Given the description of an element on the screen output the (x, y) to click on. 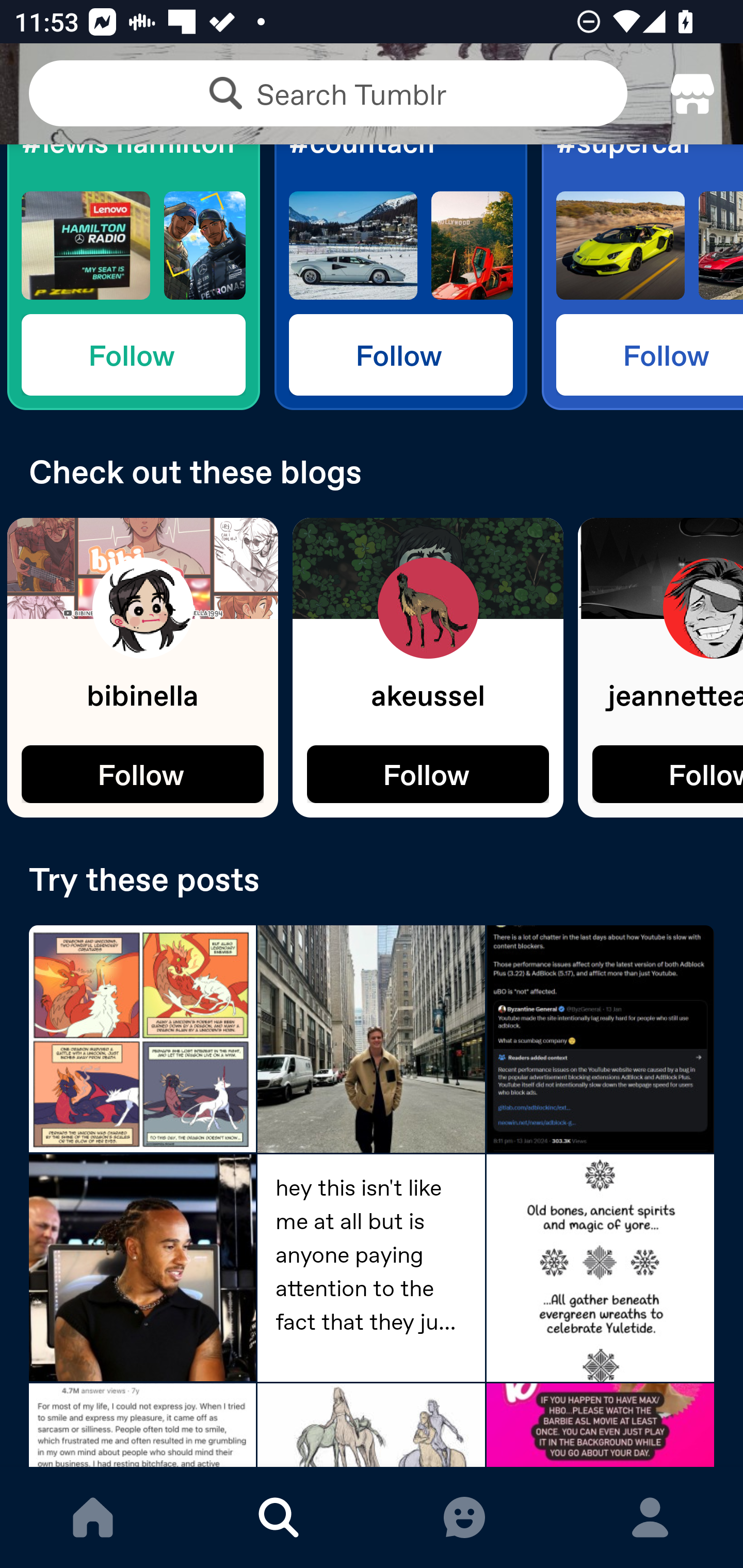
Search Tumblr (327, 93)
TumblrMart (692, 94)
#lewis hamilton Follow (133, 277)
#countach Follow (400, 277)
#supercar Follow (642, 277)
Follow (133, 354)
Follow (400, 354)
Follow (649, 354)
Check out these blogs (371, 471)
bibinella Follow (142, 666)
akeussel Follow (427, 666)
jeannettearroyo Follow (660, 666)
Follow (142, 773)
Follow (427, 773)
Follow (667, 773)
Try these posts (371, 878)
DASHBOARD (92, 1517)
EXPLORE (278, 1517)
MESSAGES (464, 1517)
ACCOUNT (650, 1517)
